Given the description of an element on the screen output the (x, y) to click on. 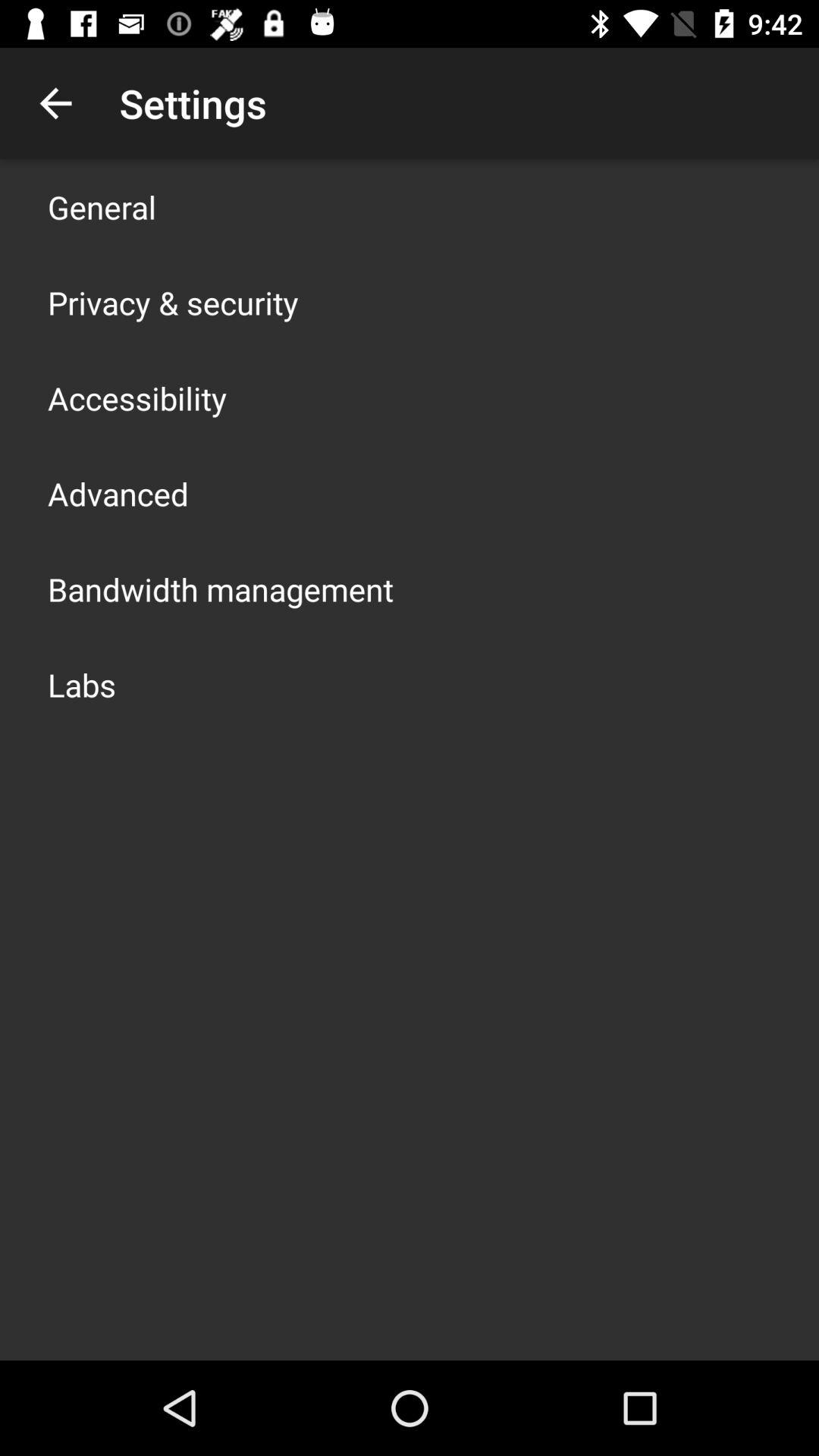
scroll until privacy & security icon (172, 302)
